Given the description of an element on the screen output the (x, y) to click on. 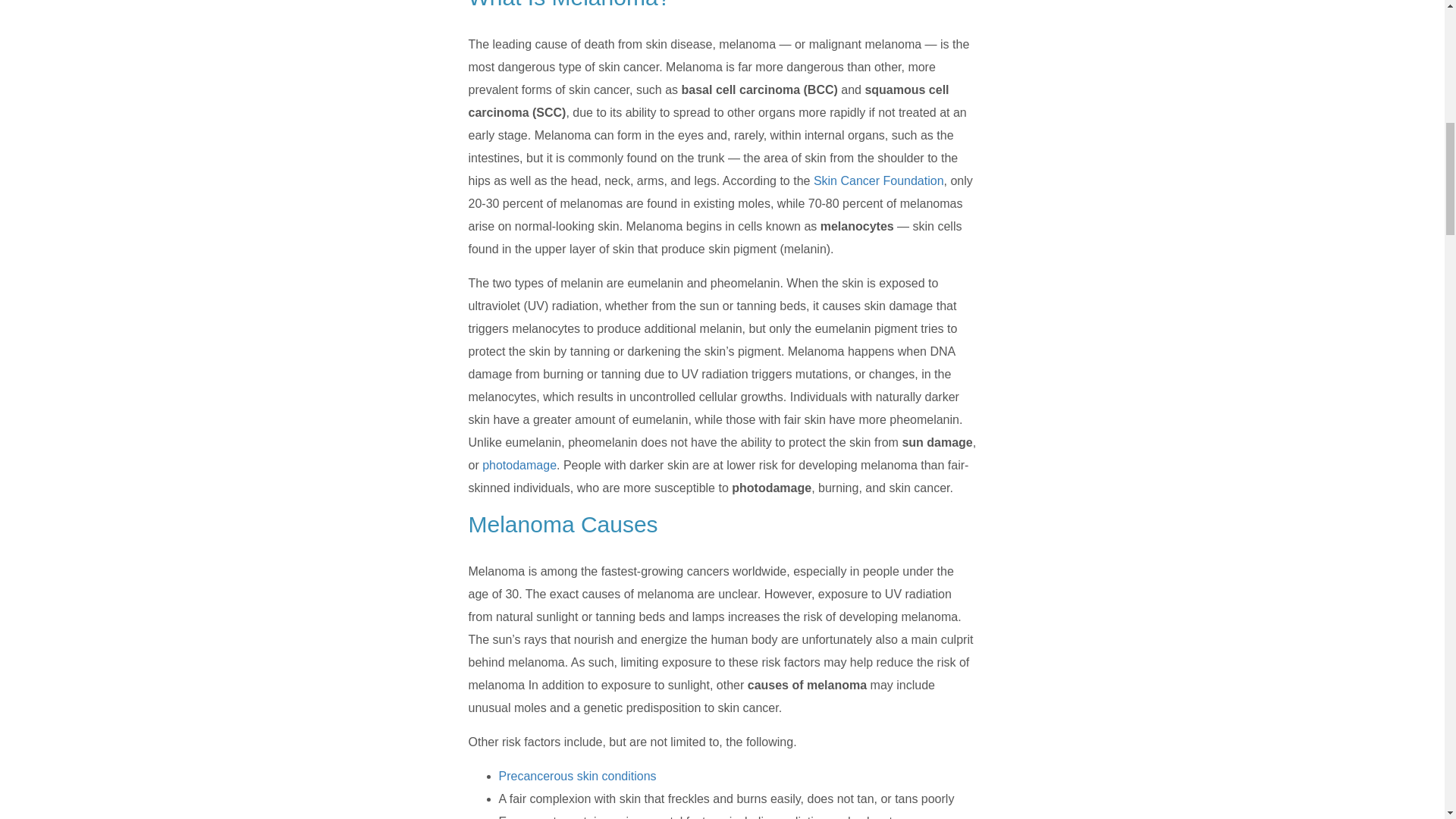
photodamage (518, 464)
Skin Cancer Foundation (878, 180)
Precancerous skin conditions (577, 775)
